Given the description of an element on the screen output the (x, y) to click on. 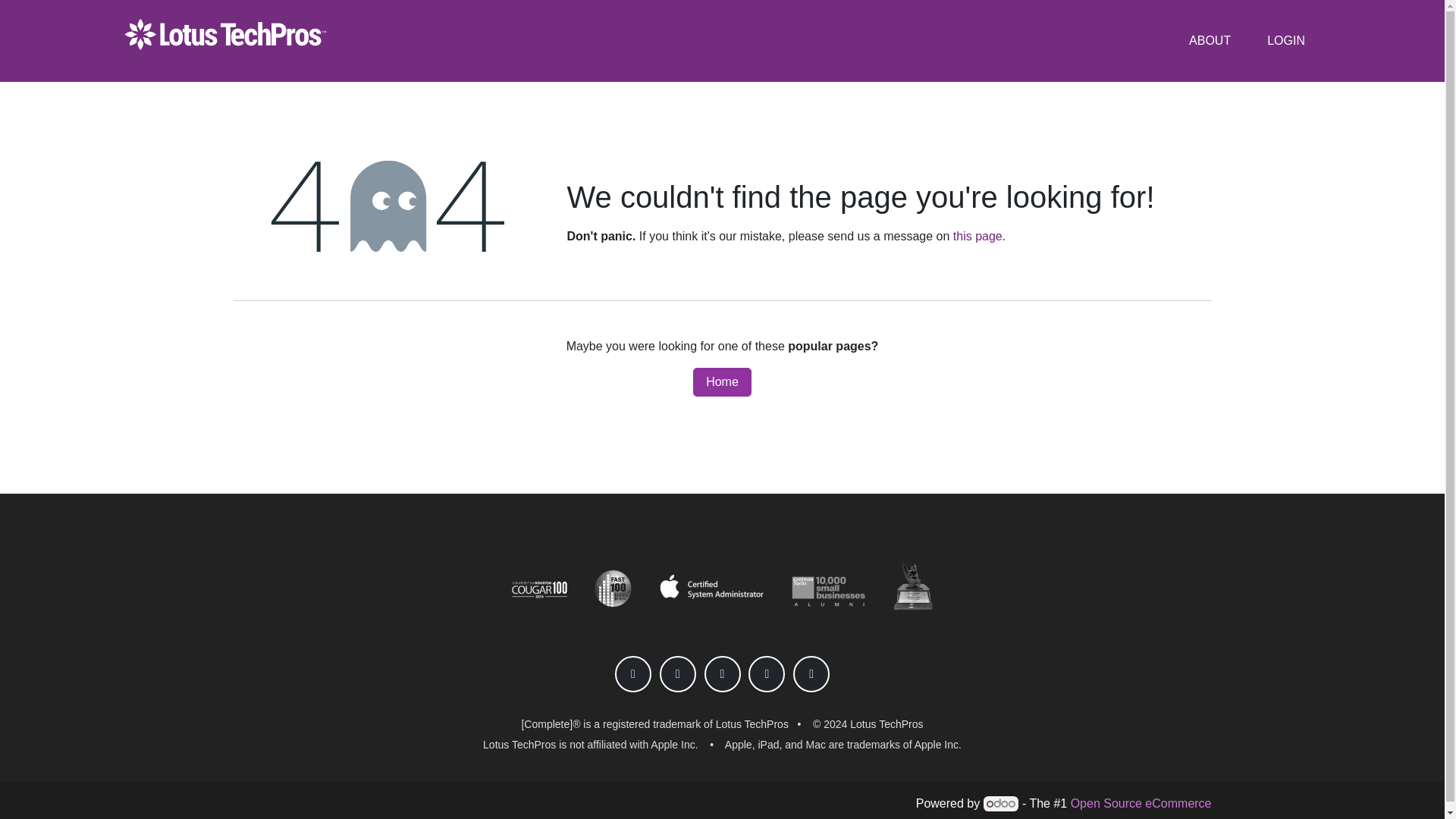
Lotus TechPros (225, 40)
LOGIN (1286, 40)
ABOUT (1209, 40)
this page (978, 236)
Open Source eCommerce (1140, 802)
Home (722, 381)
